Given the description of an element on the screen output the (x, y) to click on. 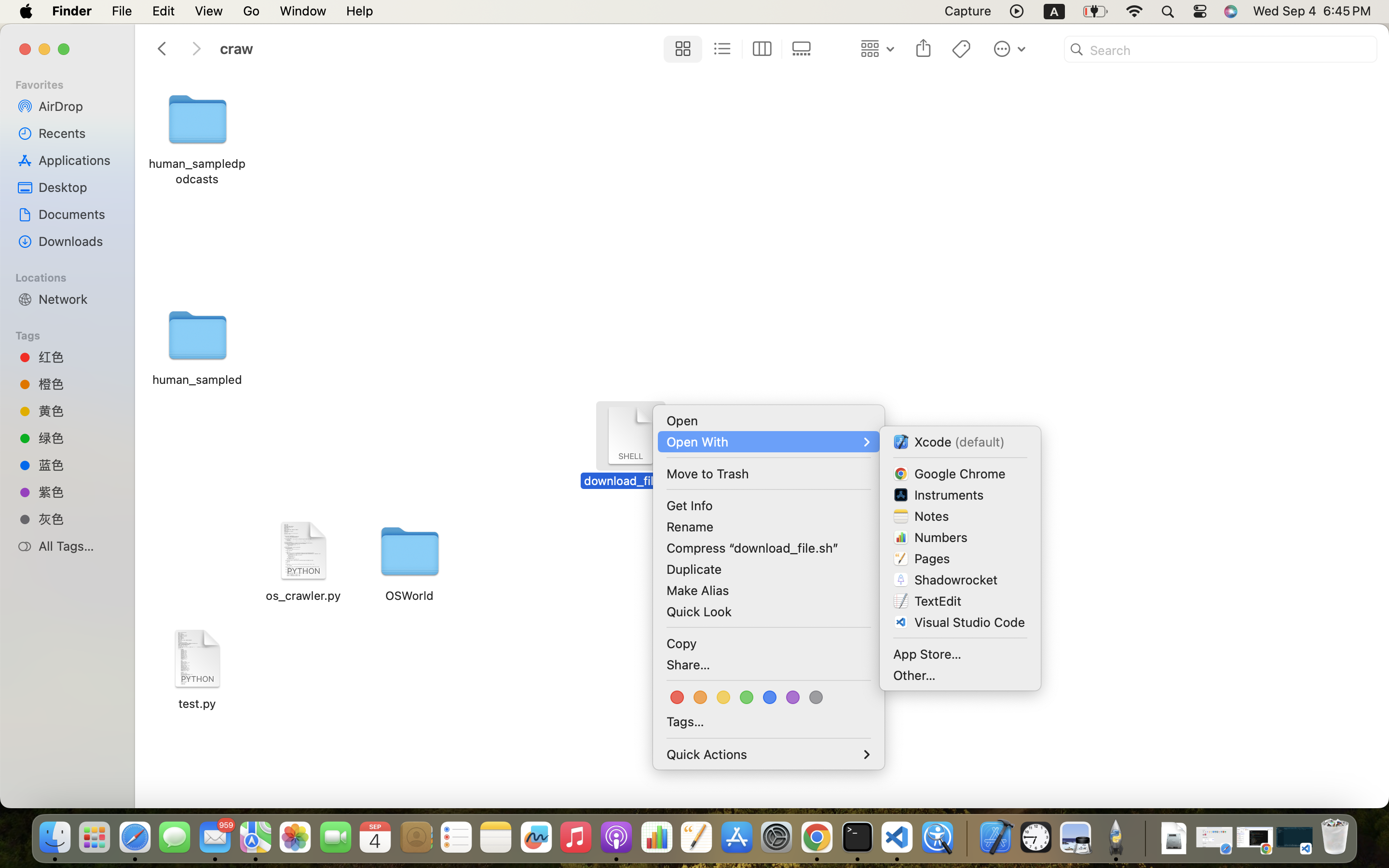
<AXUIElement 0x13a75a950> {pid=510} Element type: AXRadioGroup (741, 48)
craw Element type: AXStaticText (437, 49)
Documents Element type: AXStaticText (77, 213)
灰色 Element type: AXStaticText (77, 518)
Applications Element type: AXStaticText (77, 159)
